Given the description of an element on the screen output the (x, y) to click on. 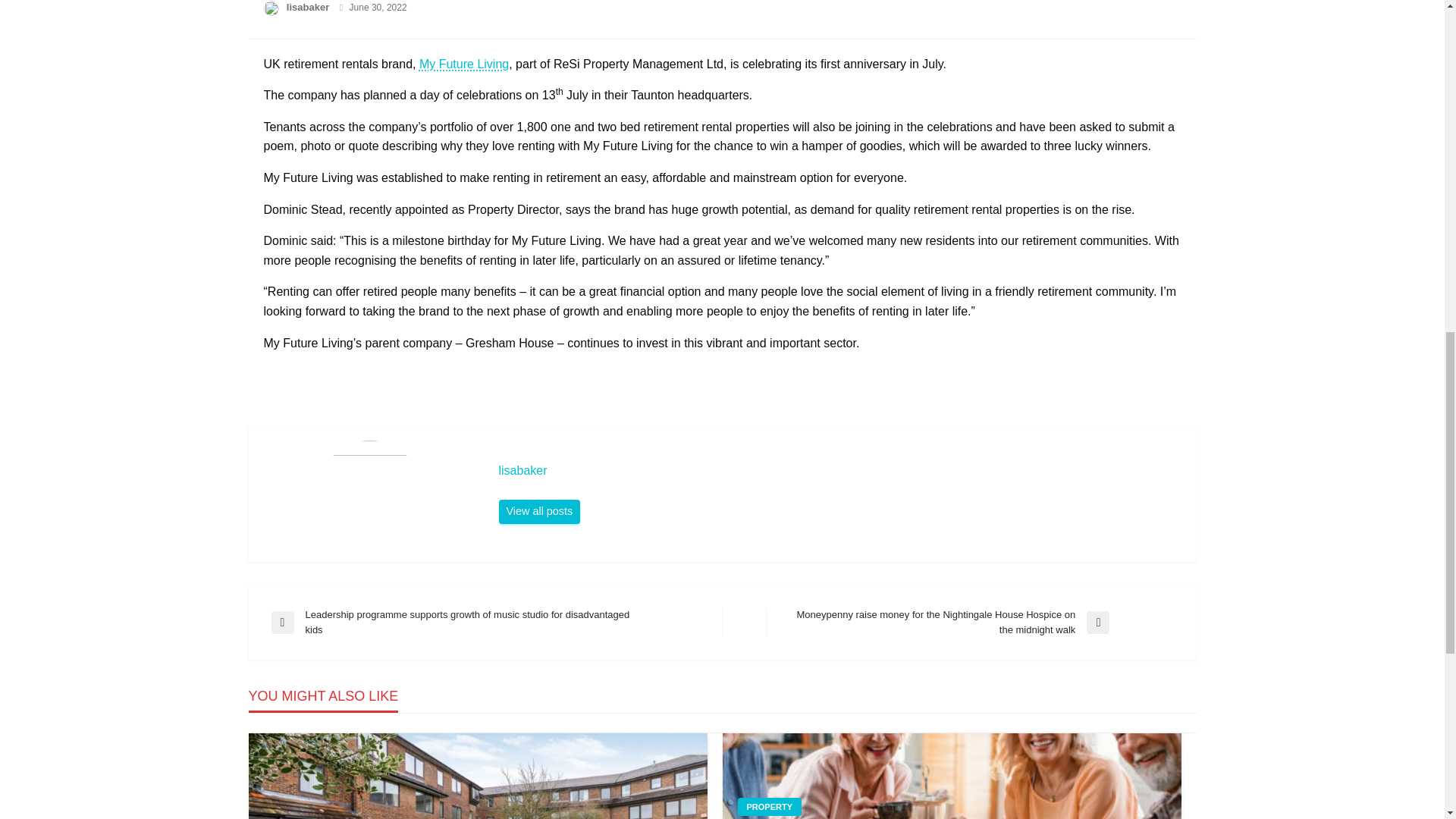
lisabaker (308, 7)
lisabaker (539, 511)
lisabaker (839, 470)
